Given the description of an element on the screen output the (x, y) to click on. 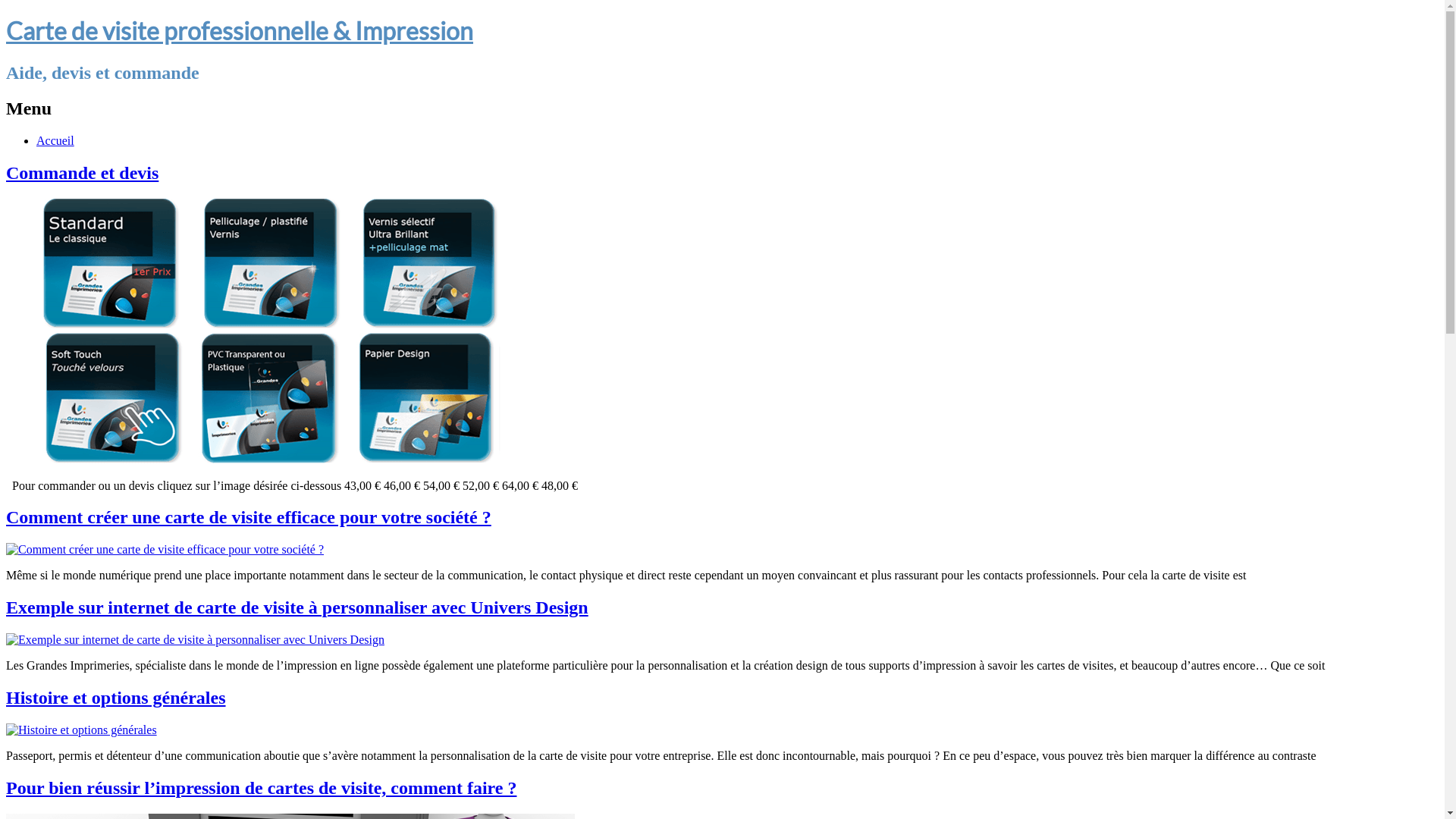
Commande et devis Element type: text (82, 172)
Commande et devis Element type: hover (284, 331)
Commande et devis Element type: hover (284, 459)
Accueil Element type: text (55, 140)
Carte de visite professionnelle & Impression Element type: text (239, 30)
